Given the description of an element on the screen output the (x, y) to click on. 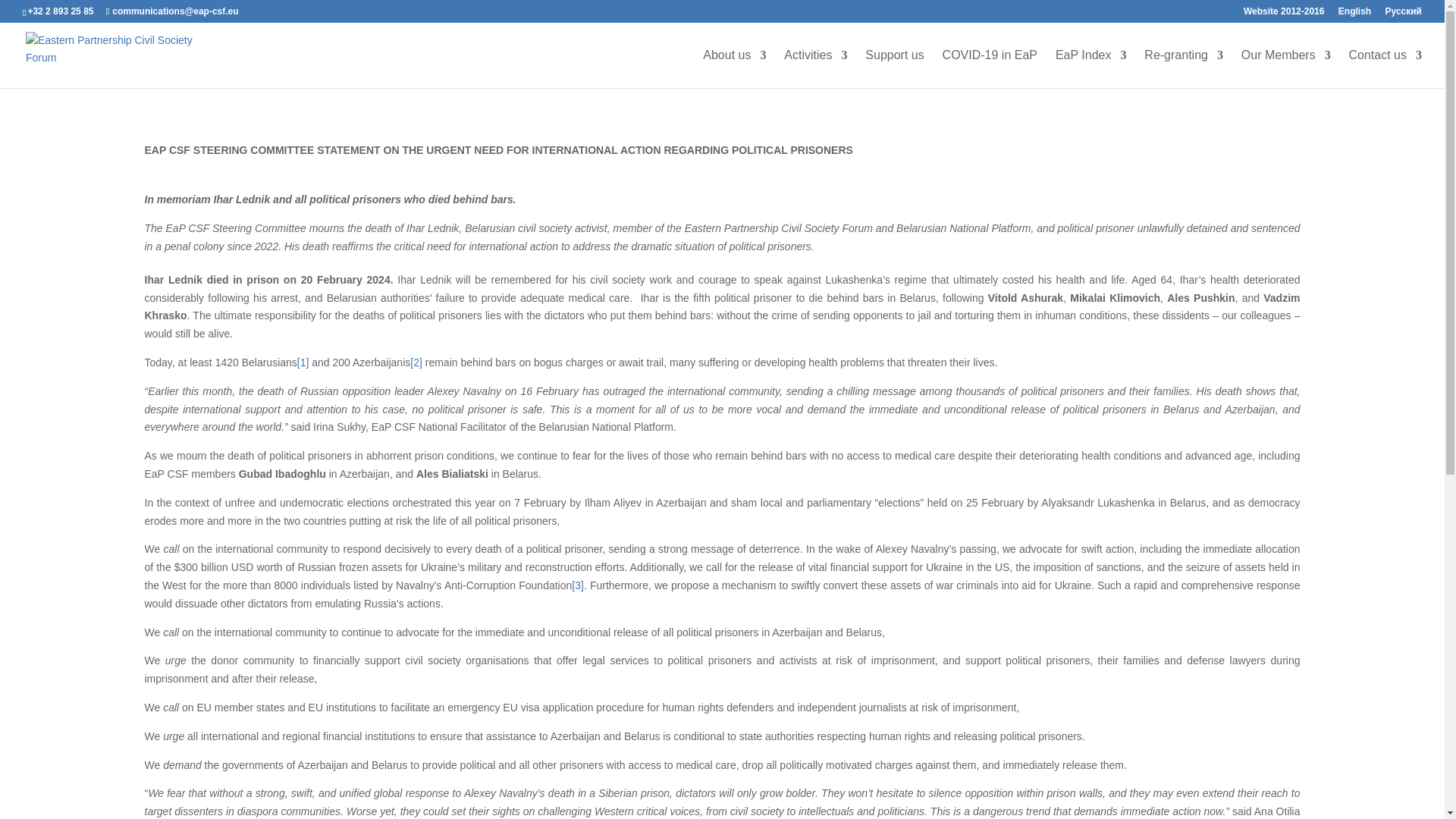
Activities (815, 68)
Our Members (1285, 68)
Website 2012-2016 (1283, 14)
About us (734, 68)
Support us (893, 68)
EaP Index (1090, 68)
Contact us (1385, 68)
COVID-19 in EaP (989, 68)
Re-granting (1183, 68)
English (1354, 14)
